Given the description of an element on the screen output the (x, y) to click on. 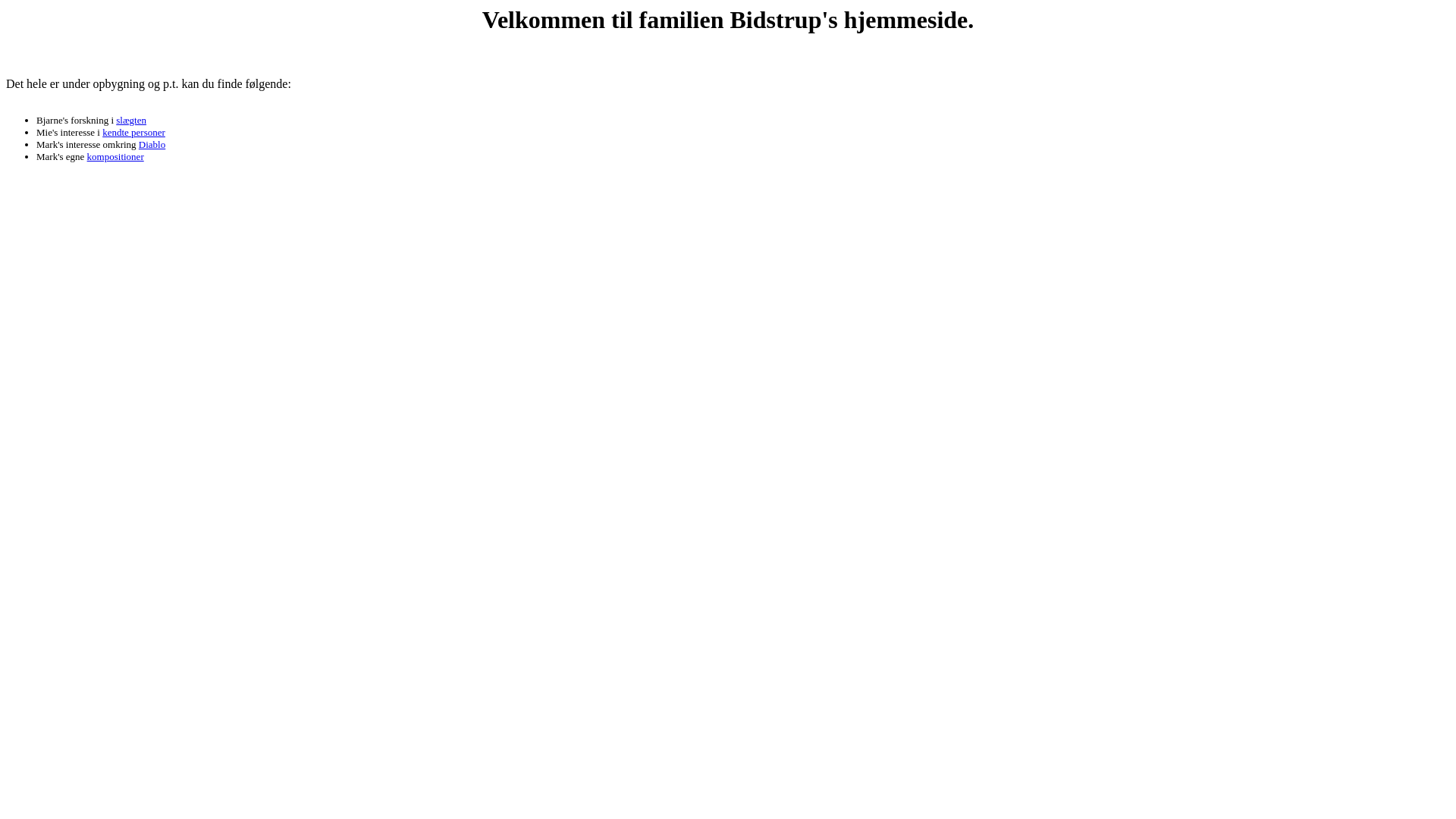
Diablo Element type: text (151, 144)
kendte personer Element type: text (133, 132)
kompositioner Element type: text (115, 156)
